Given the description of an element on the screen output the (x, y) to click on. 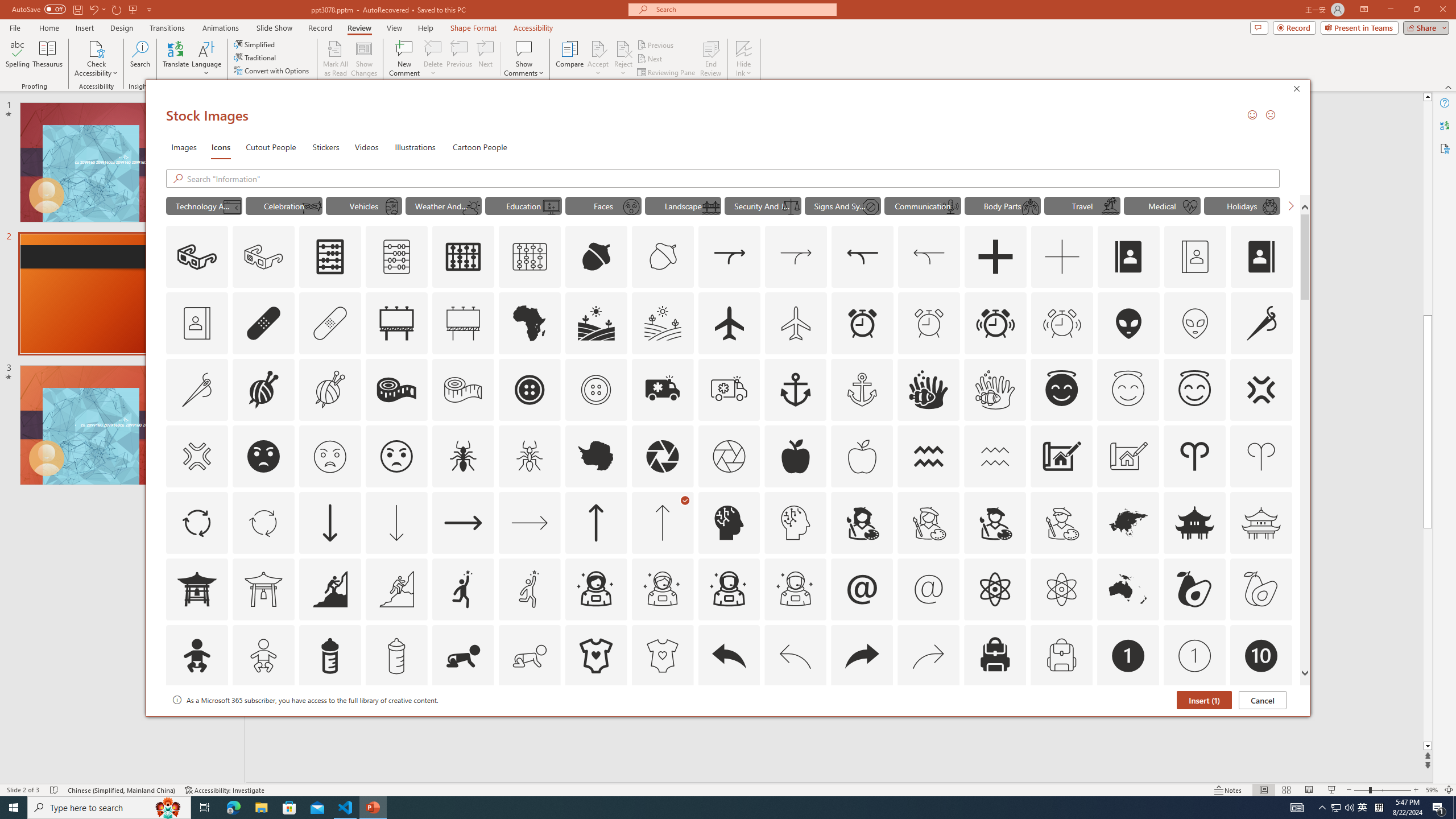
AutomationID: Icons_Apple (795, 455)
AutomationID: Icons_RemoteLearningMath_M (551, 206)
AutomationID: Icons_Badge2_M (329, 721)
AutomationID: Icons_AnemoneAndClownfish (928, 389)
AutomationID: Icons_Abacus (330, 256)
AutomationID: Icons_Antarctica (595, 455)
AutomationID: Icons_AngerSymbol (1260, 389)
